Given the description of an element on the screen output the (x, y) to click on. 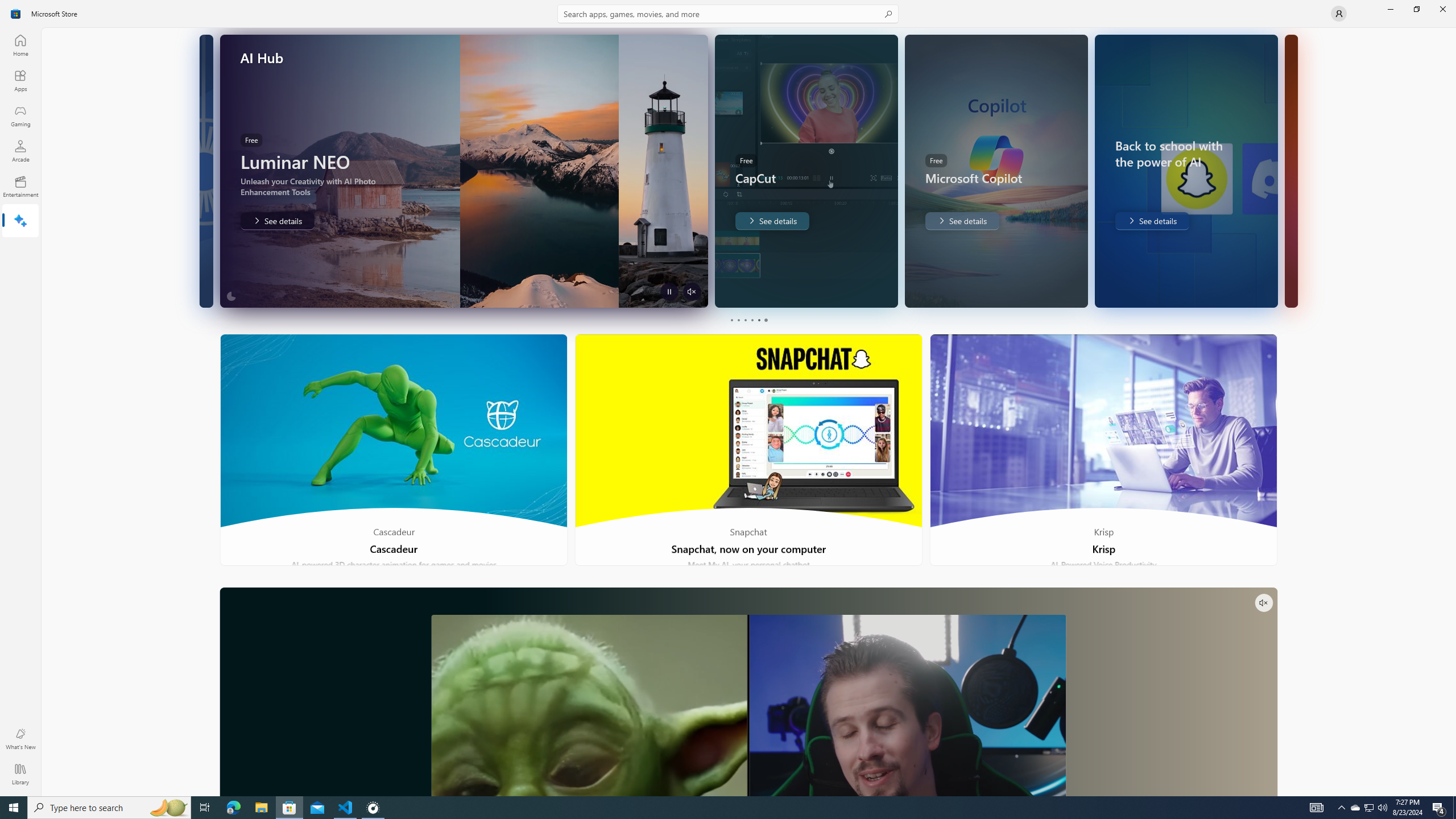
Snapchat, now on your computer (749, 449)
Home (20, 45)
Search (727, 13)
